Given the description of an element on the screen output the (x, y) to click on. 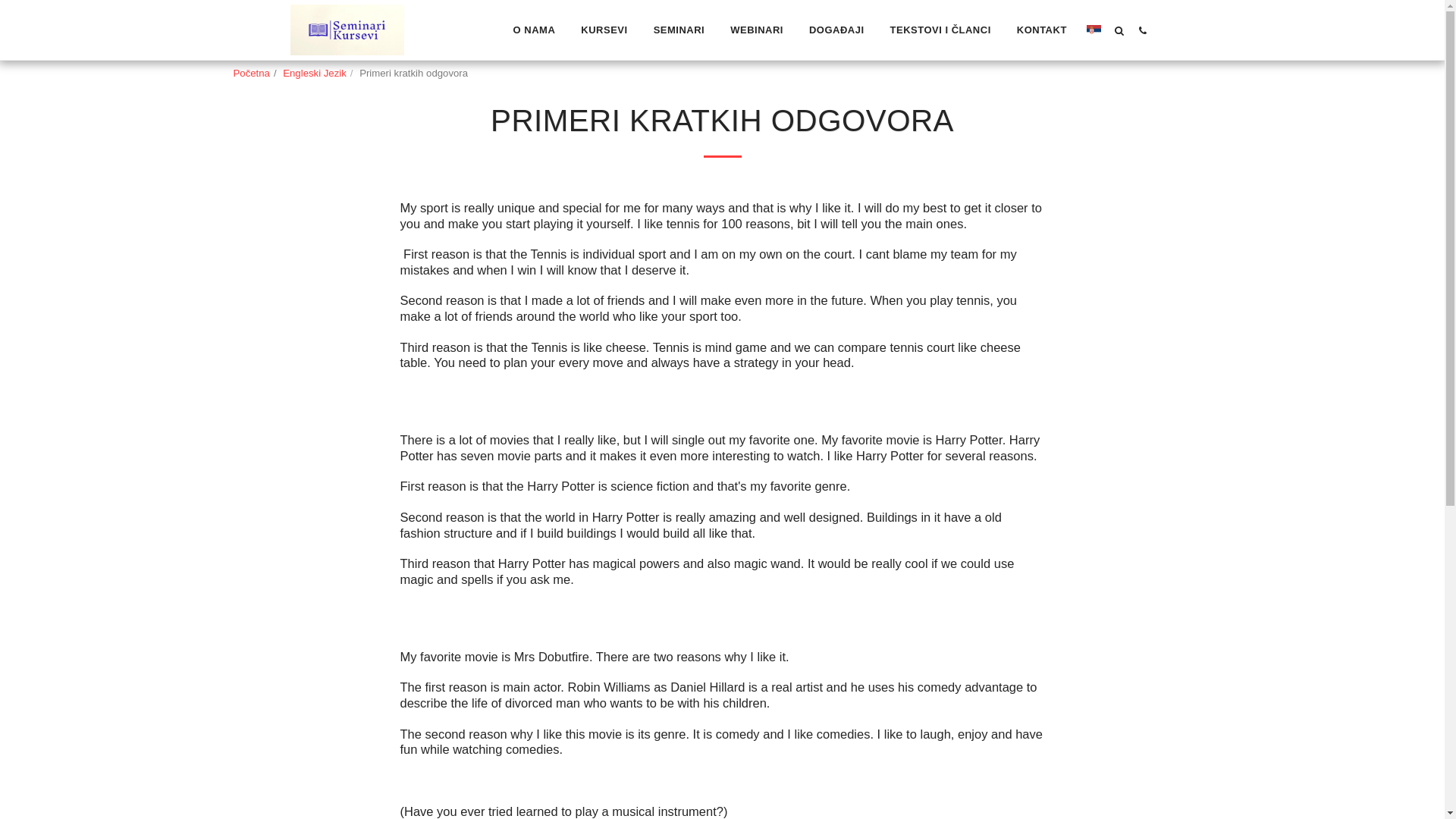
SEMINARI (679, 29)
WEBINARI (755, 29)
KURSEVI (604, 29)
O NAMA (533, 29)
Engleski Jezik (314, 72)
KONTAKT (1041, 29)
